Given the description of an element on the screen output the (x, y) to click on. 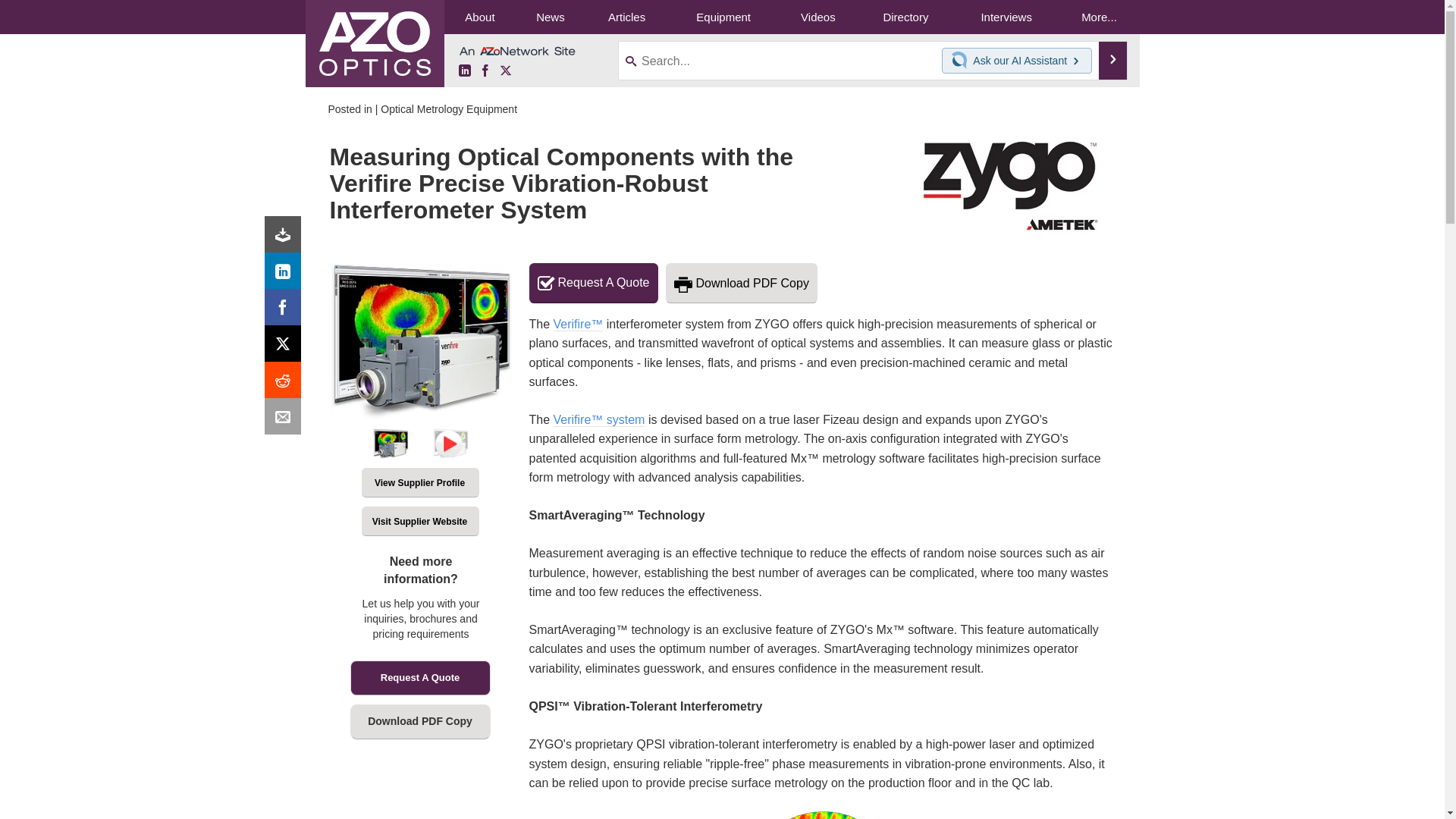
LinkedIn (285, 275)
Interviews (1006, 17)
Videos (817, 17)
Download PDF copy (285, 238)
Chat with our AI Assistant Ask our AI Assistant (1017, 60)
More... (1098, 17)
Facebook (285, 311)
Articles (626, 17)
News (550, 17)
Facebook (485, 71)
Directory (905, 17)
Chat with our AI Assistant (962, 60)
Reddit (285, 384)
Zygo Corporation logo. (1010, 185)
About (479, 17)
